Given the description of an element on the screen output the (x, y) to click on. 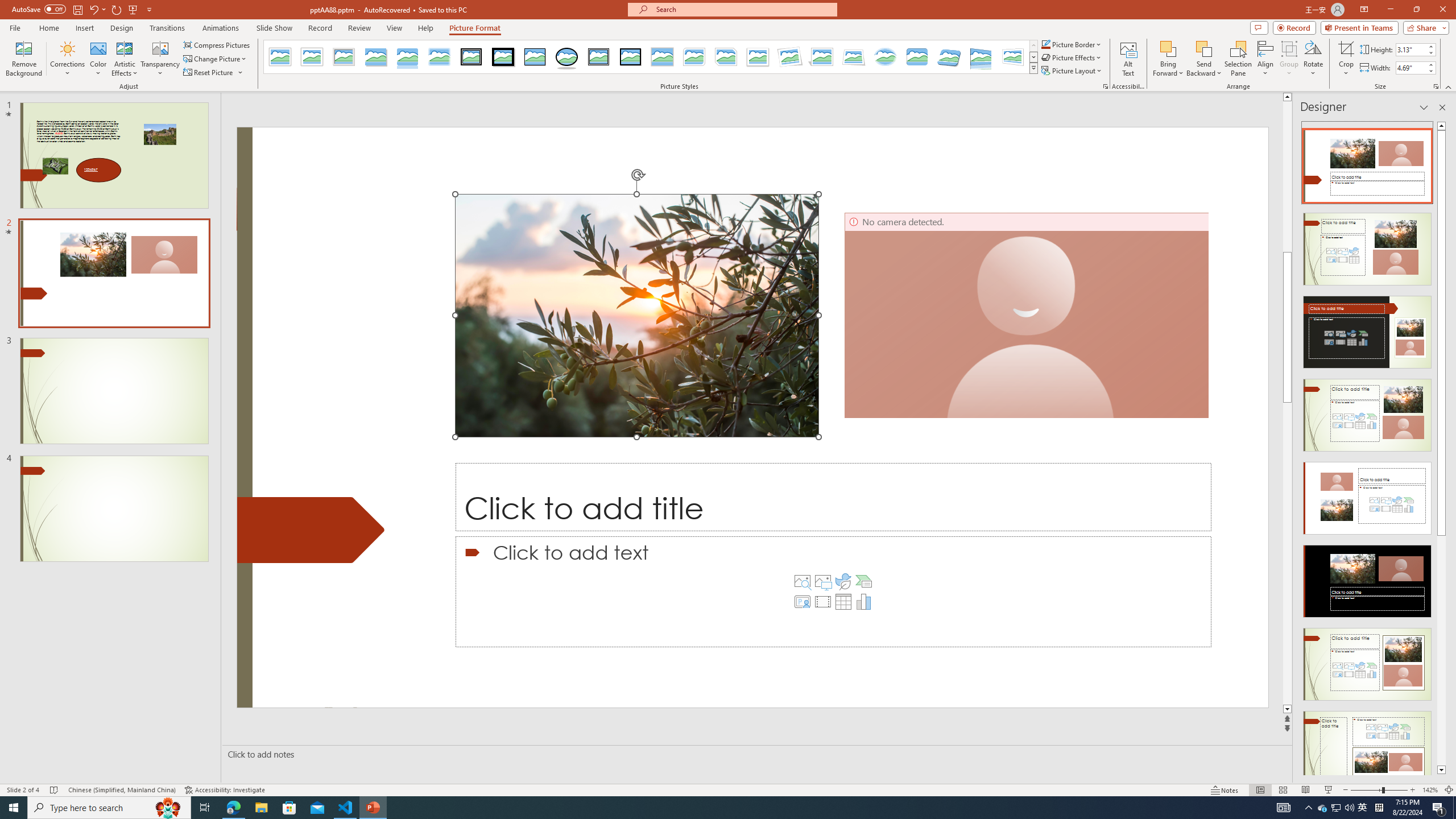
Align (1264, 58)
Drop Shadow Rectangle (375, 56)
Decorative Locked (310, 530)
Shape Width (1410, 67)
Soft Edge Oval (885, 56)
Content Placeholder (833, 591)
Shape Height (1410, 49)
Insert an Icon (843, 581)
